Given the description of an element on the screen output the (x, y) to click on. 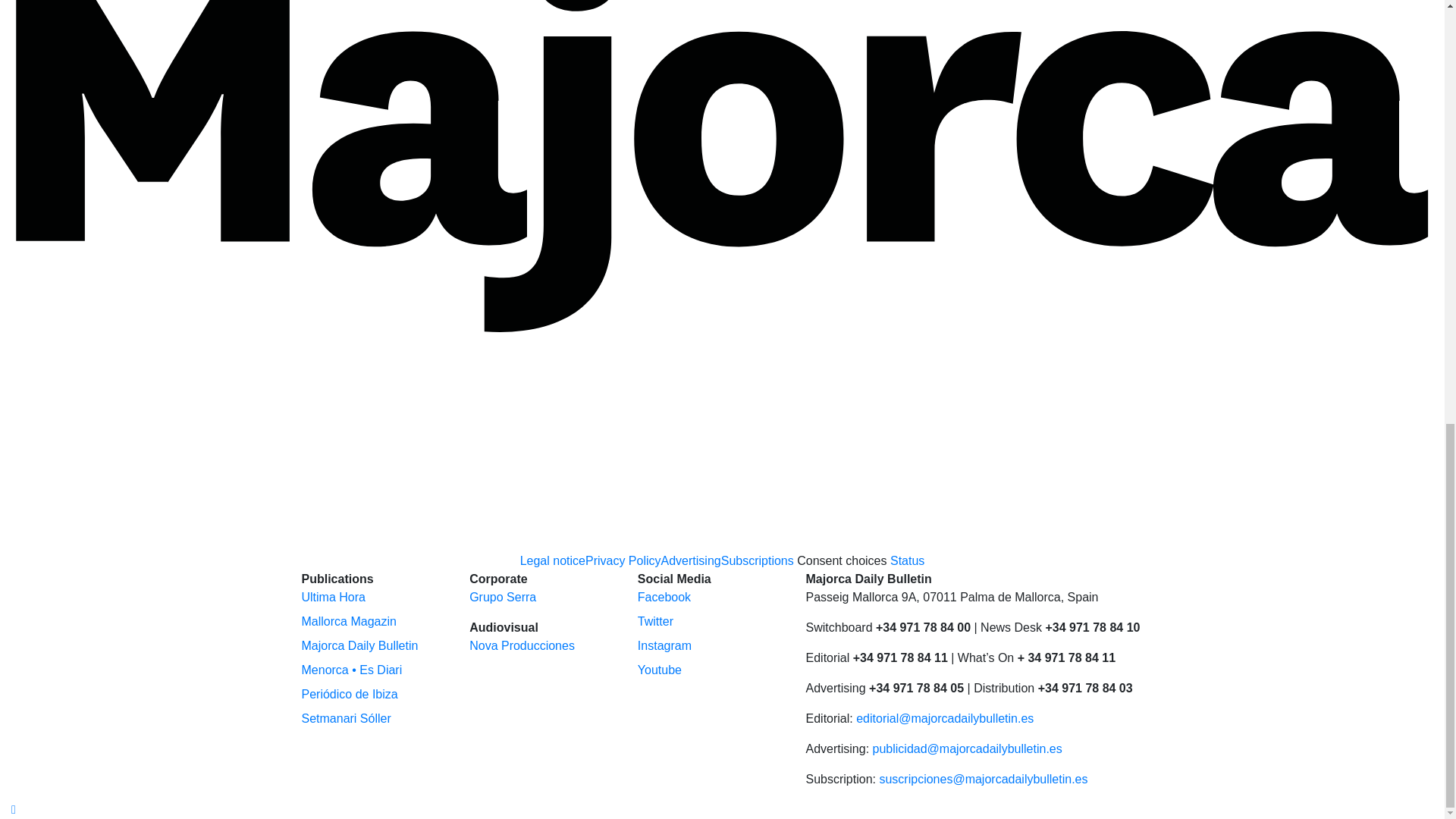
Facebook (663, 596)
Twitter (654, 621)
